Given the description of an element on the screen output the (x, y) to click on. 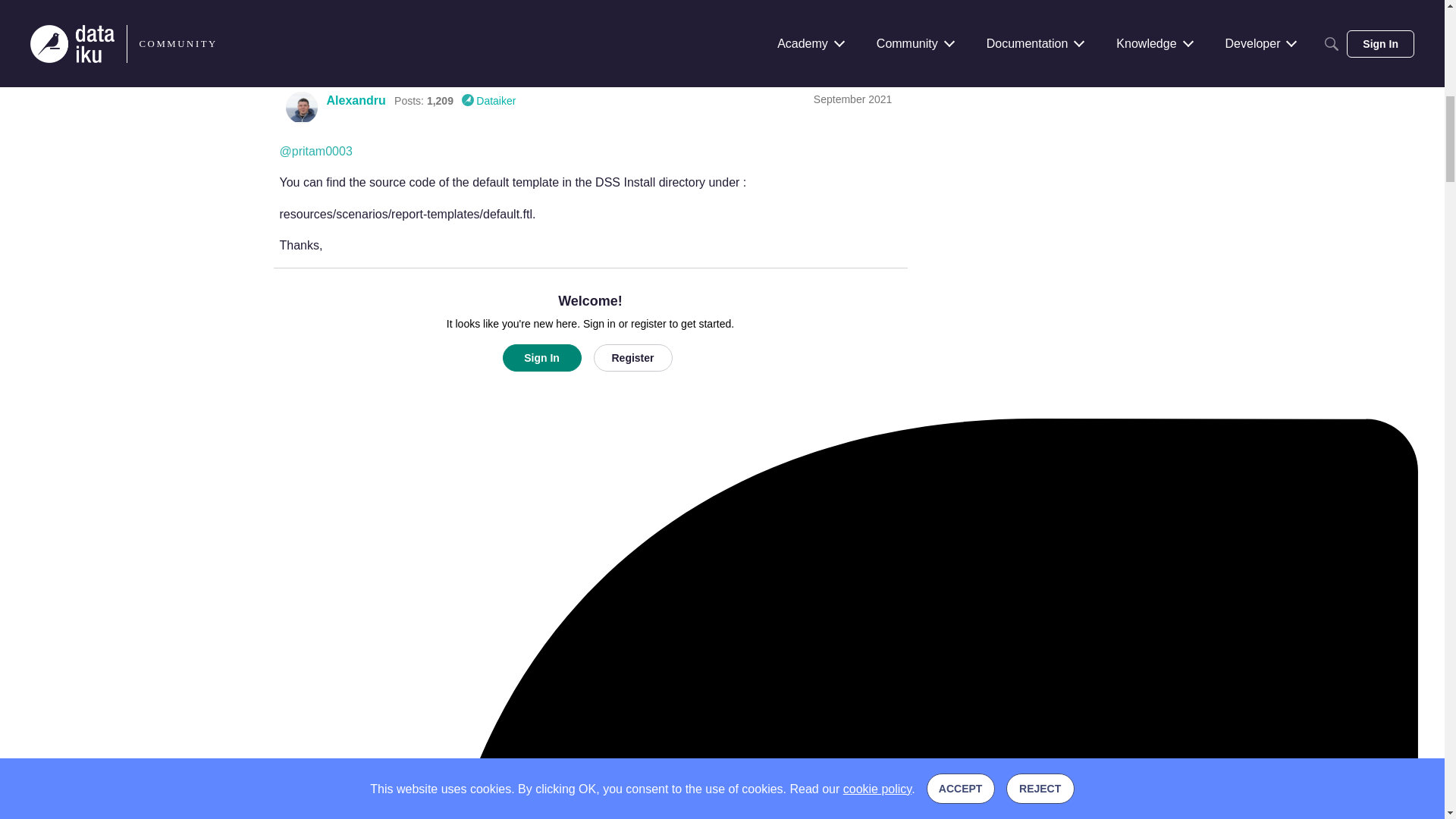
Register (631, 357)
Sign In (541, 357)
September 9, 2021 7:59AM (852, 99)
Dataiker (488, 100)
Alexandru (301, 107)
